Given the description of an element on the screen output the (x, y) to click on. 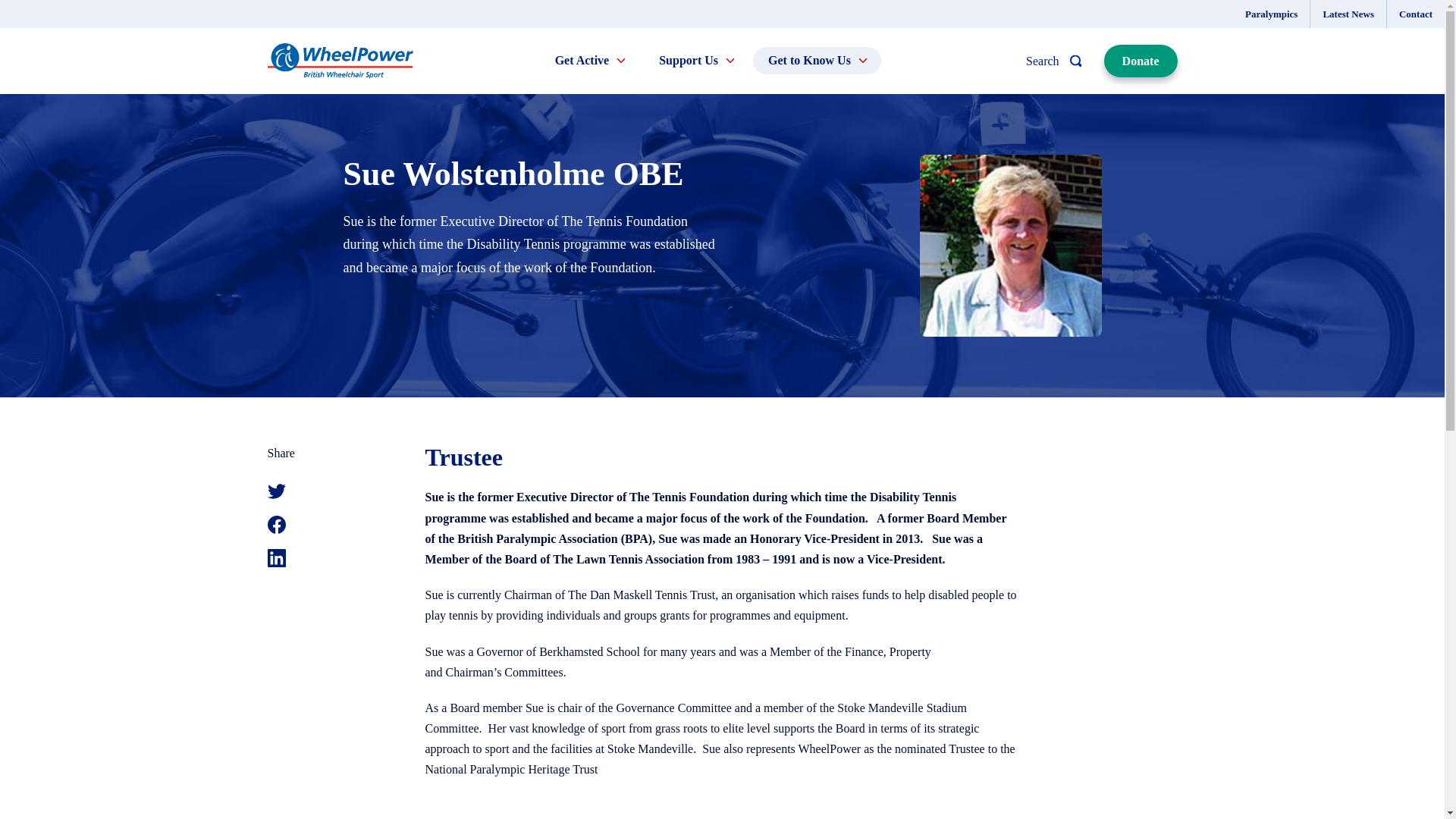
Get Active (590, 60)
Latest News (1348, 13)
Paralympics (1270, 13)
